Given the description of an element on the screen output the (x, y) to click on. 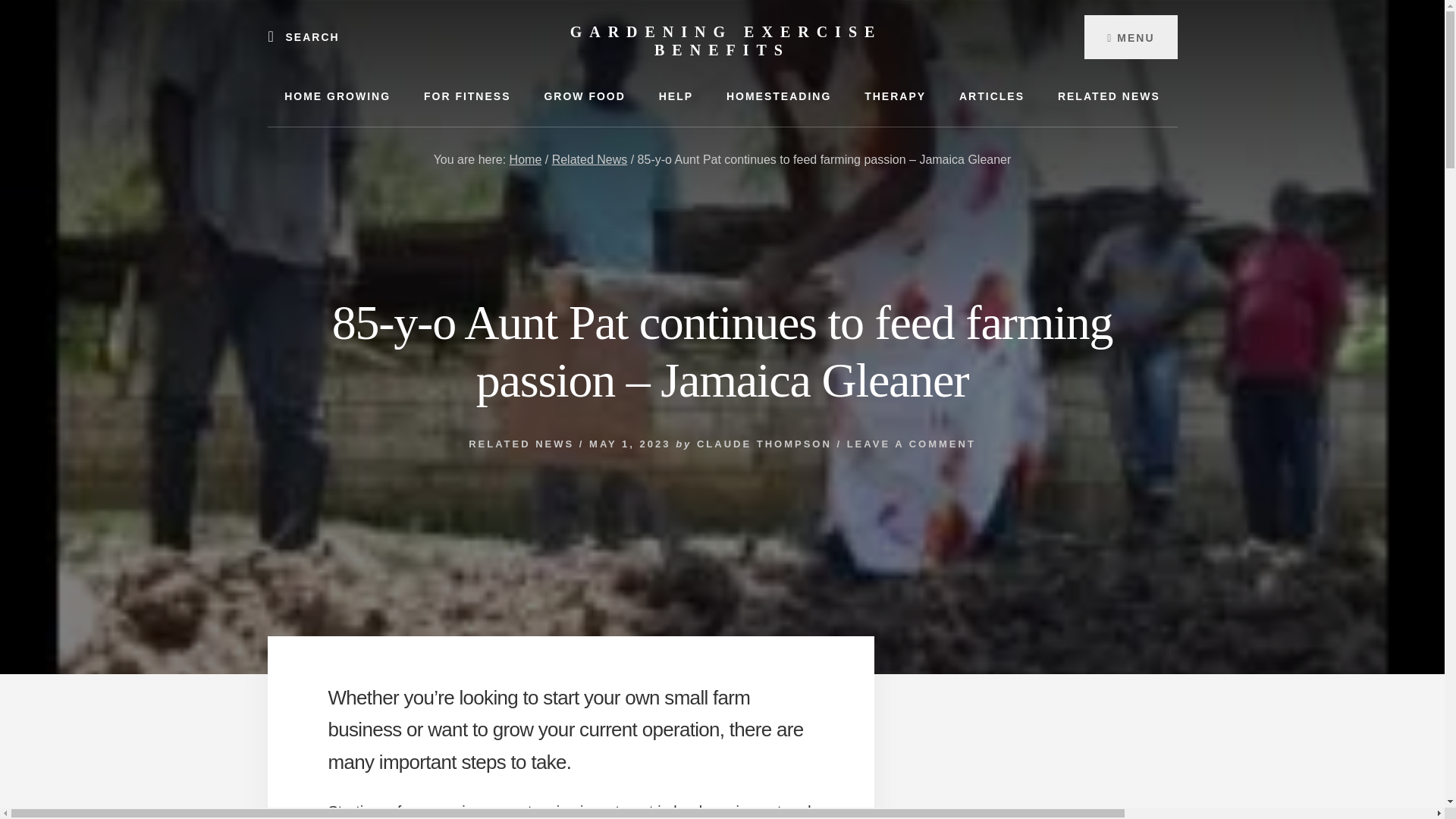
HOMESTEADING (778, 96)
ARTICLES (991, 96)
RELATED NEWS (520, 443)
GROW FOOD (584, 96)
Related News (589, 159)
LEAVE A COMMENT (911, 443)
Home (525, 159)
MENU (1130, 36)
THERAPY (894, 96)
CLAUDE THOMPSON (764, 443)
RELATED NEWS (1108, 96)
